Given the description of an element on the screen output the (x, y) to click on. 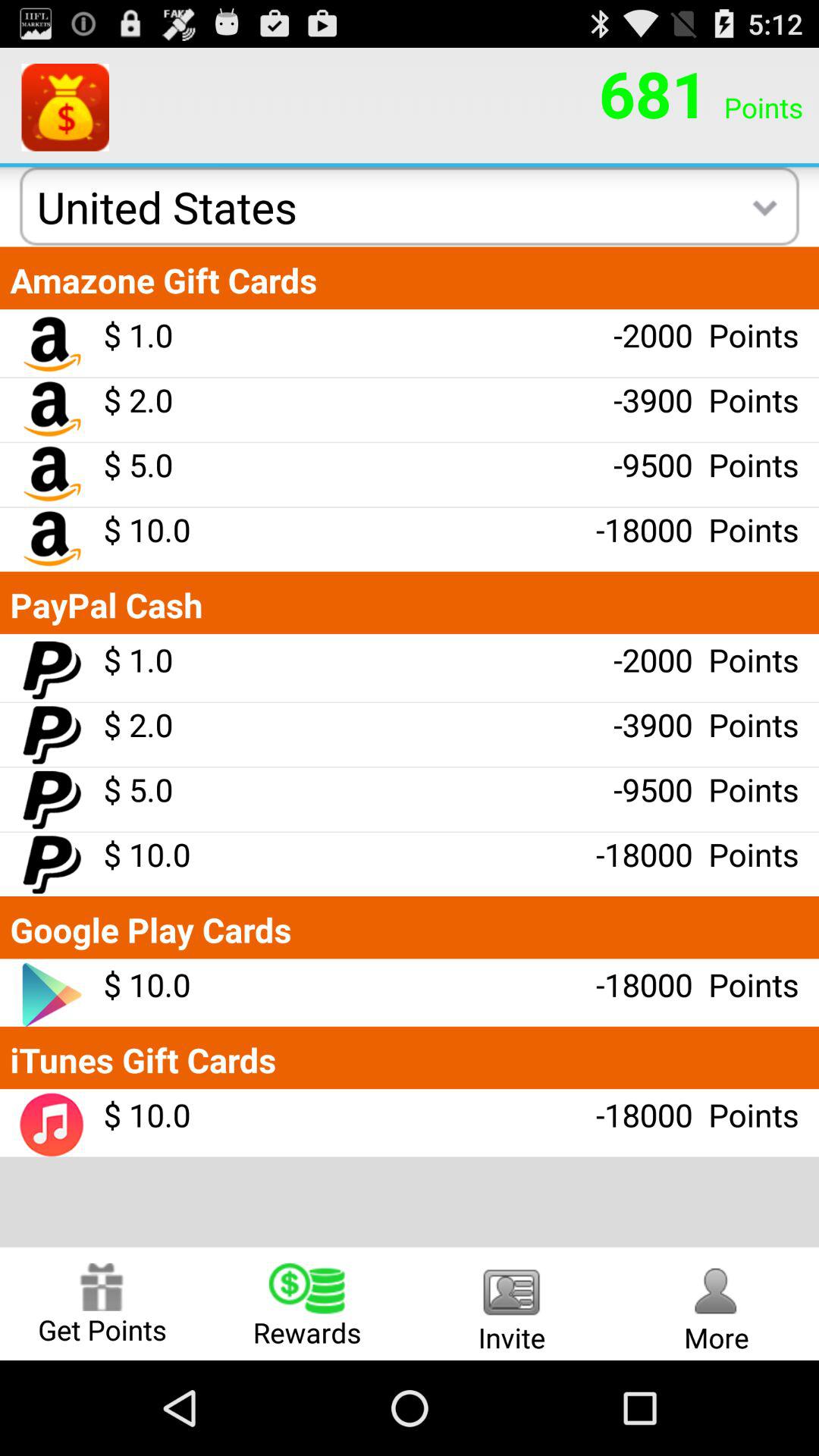
open radio button next to the get points radio button (306, 1303)
